Given the description of an element on the screen output the (x, y) to click on. 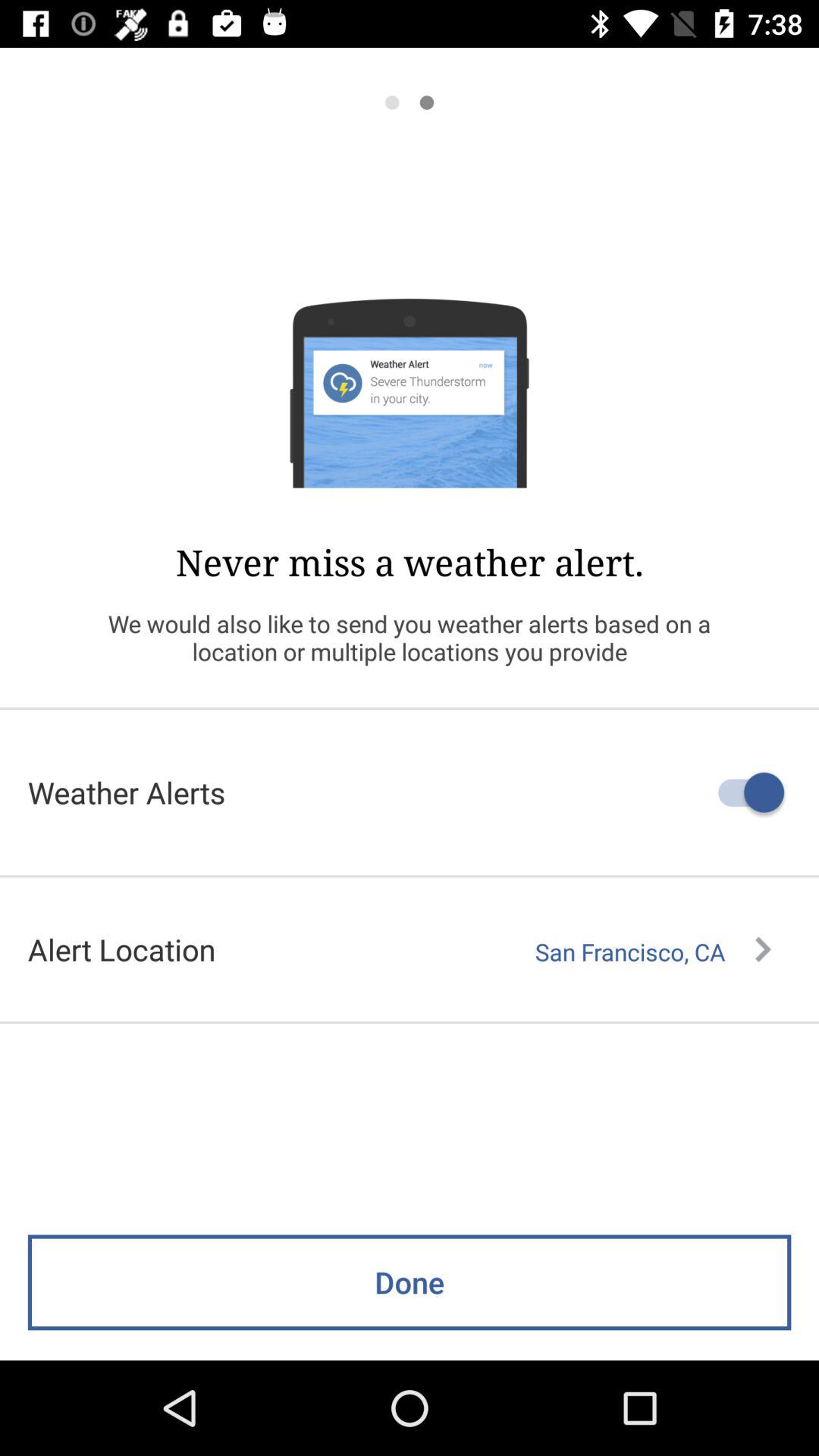
tap item to the right of the alert location (653, 951)
